Given the description of an element on the screen output the (x, y) to click on. 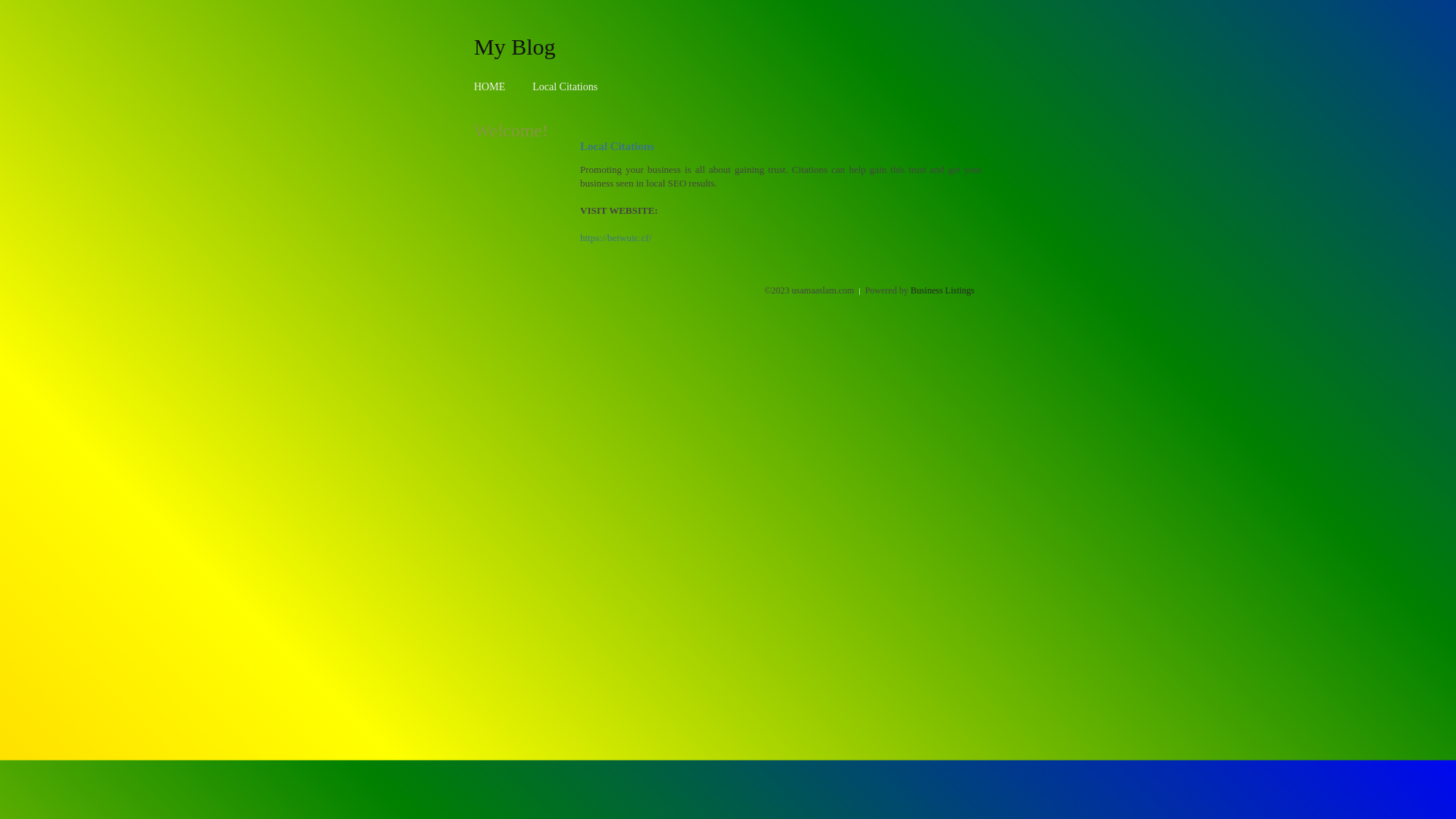
Business Listings Element type: text (942, 290)
HOME Element type: text (489, 86)
https://betwuic.cf/ Element type: text (615, 237)
Local Citations Element type: text (564, 86)
My Blog Element type: text (514, 46)
